Given the description of an element on the screen output the (x, y) to click on. 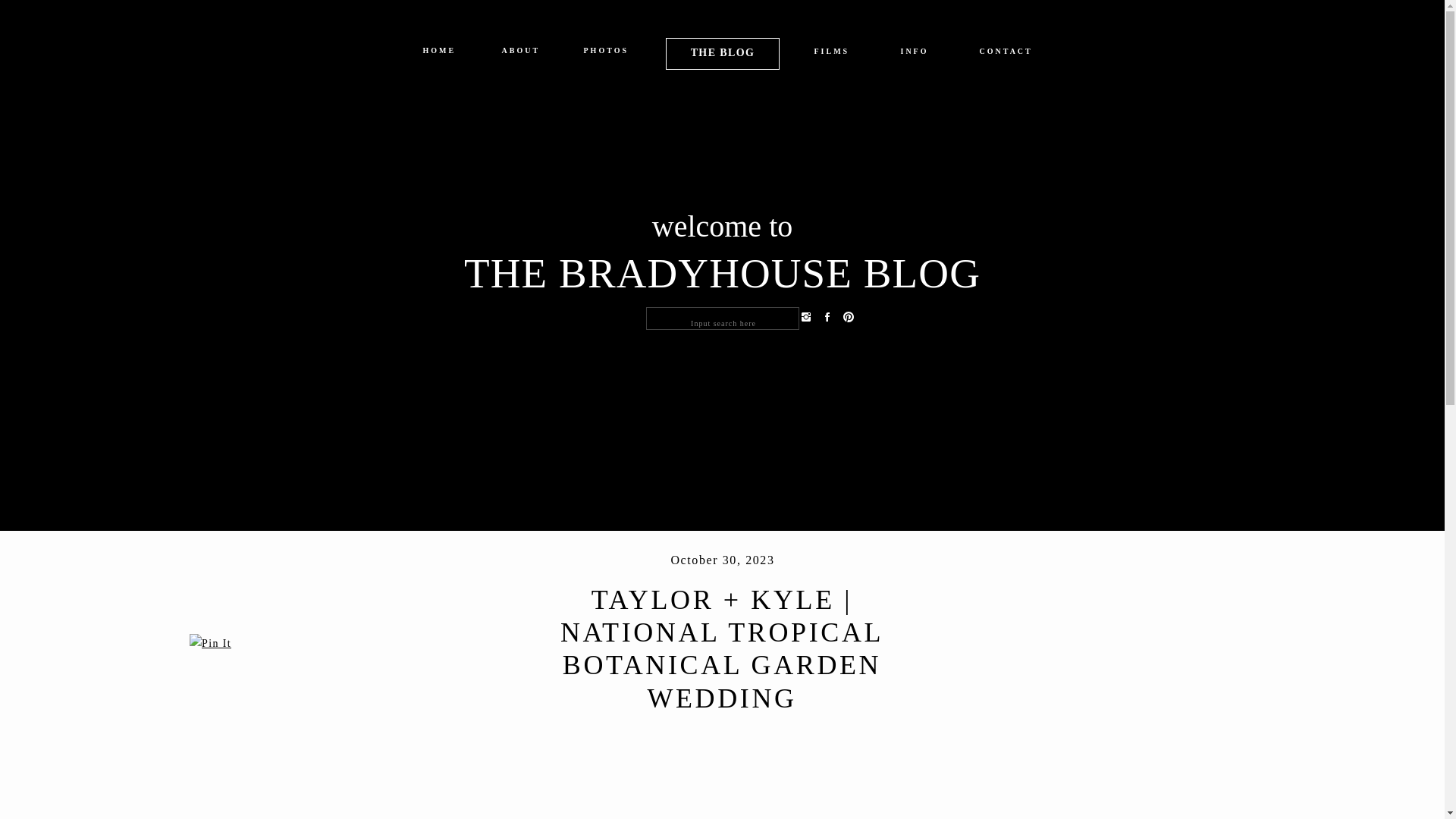
ABOUT (520, 53)
THE BLOG (722, 51)
HOME (439, 53)
CONTACT (1004, 54)
FILMS (831, 54)
Pin It (210, 642)
PHOTOS (605, 53)
INFO (914, 54)
